Given the description of an element on the screen output the (x, y) to click on. 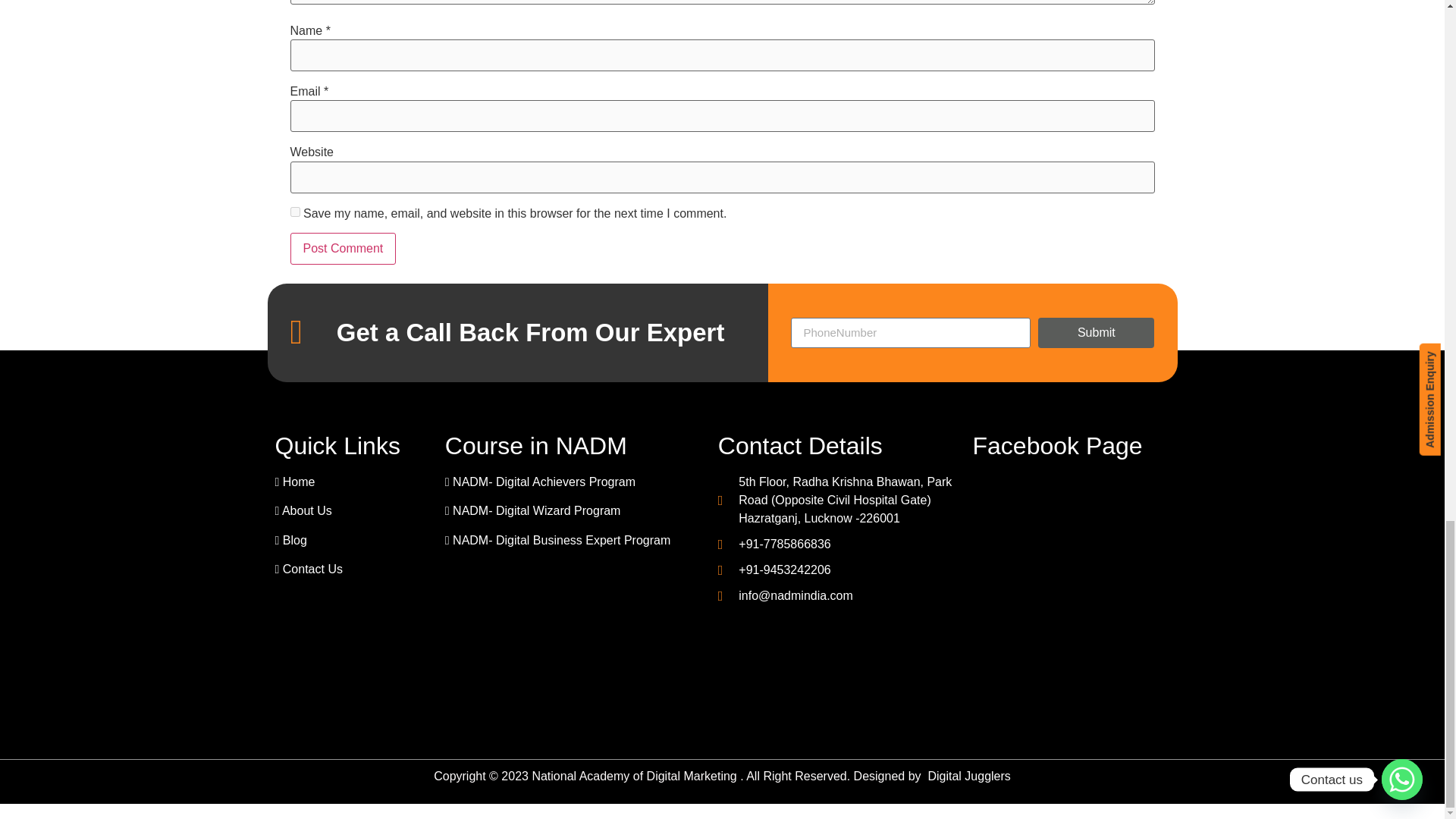
Post Comment (342, 248)
yes (294, 212)
